Given the description of an element on the screen output the (x, y) to click on. 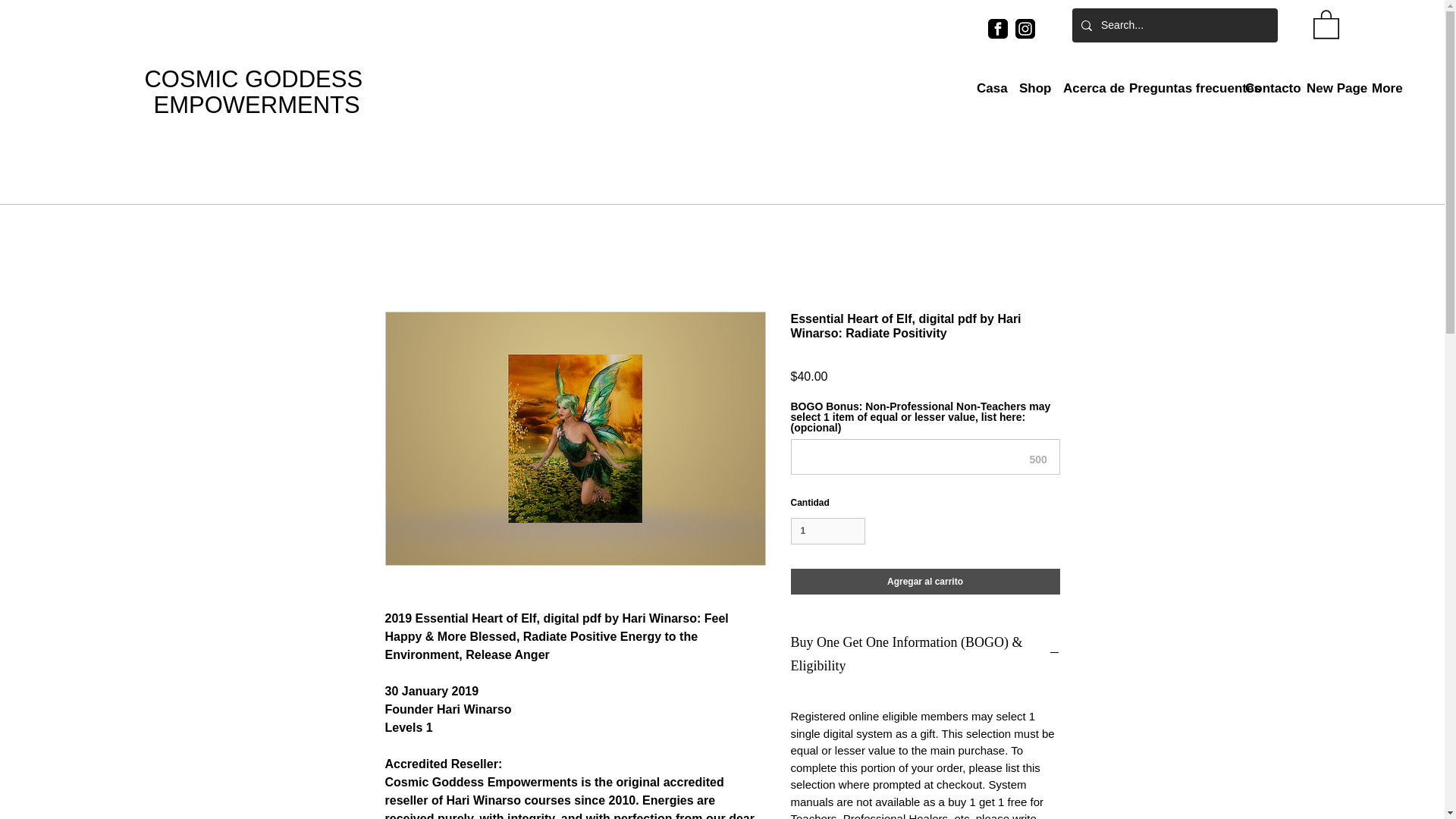
Casa (990, 87)
Contacto (1267, 87)
Preguntas frecuentes (1179, 87)
Agregar al carrito (924, 581)
1 (827, 530)
New Page (1331, 87)
